Given the description of an element on the screen output the (x, y) to click on. 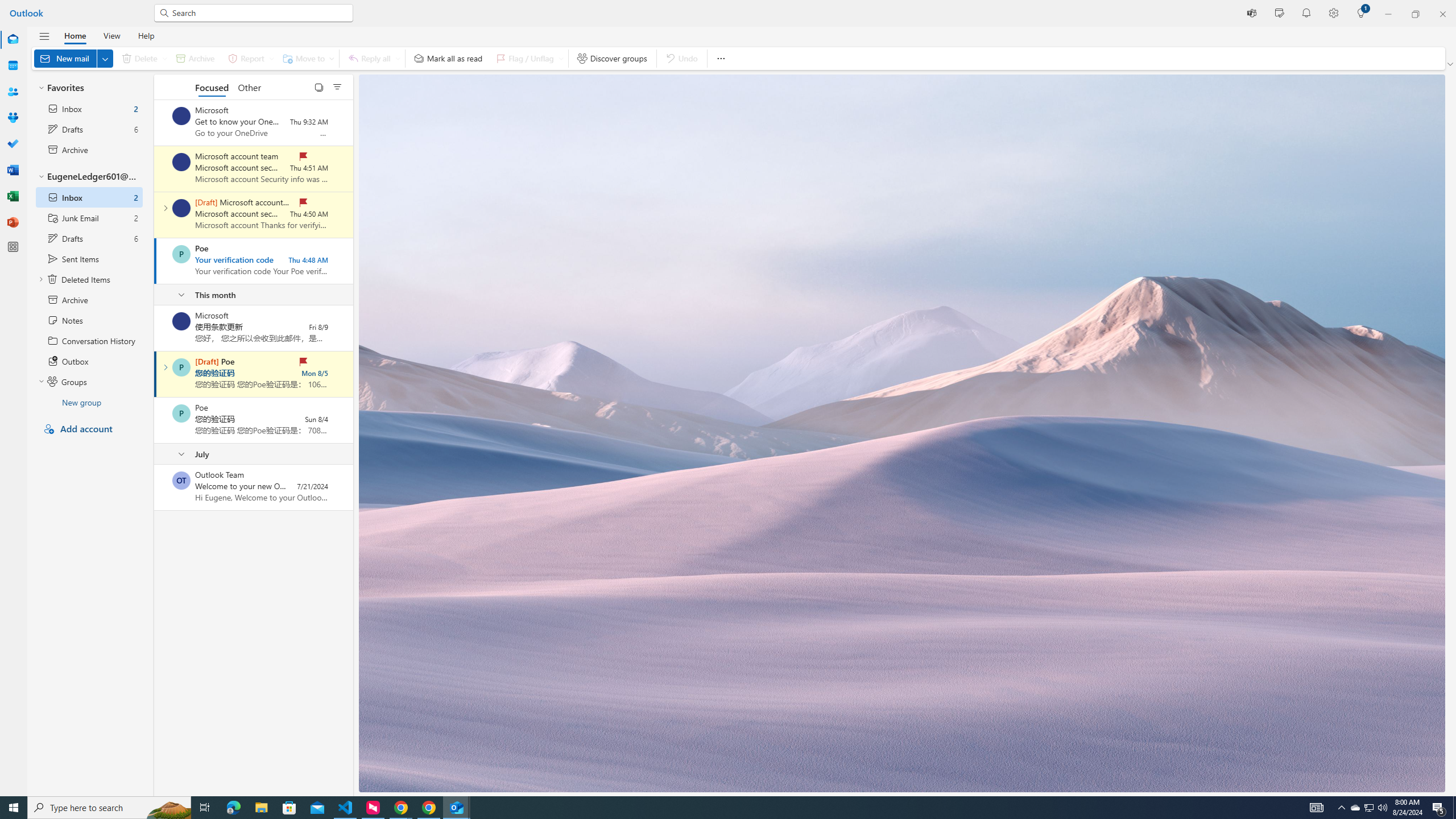
To Do (12, 143)
Expand conversation (164, 367)
Select a conversation (180, 480)
Flag / Unflag (527, 58)
Microsoft (180, 321)
Expand to see more New options (104, 58)
People (12, 92)
Ribbon display options (1450, 63)
PowerPoint (12, 222)
Outlook Team (180, 480)
New mail (73, 58)
